Given the description of an element on the screen output the (x, y) to click on. 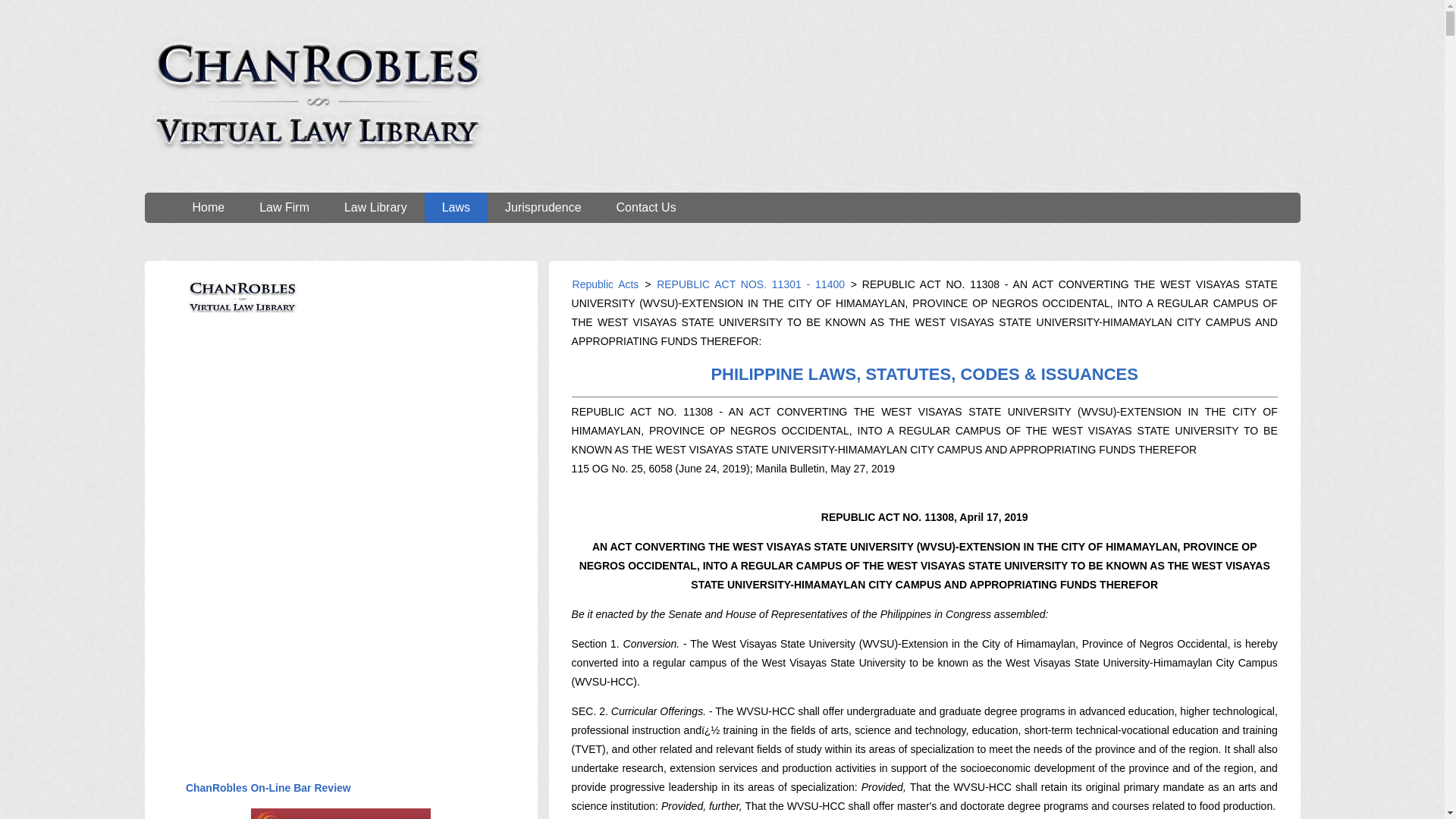
Contact Us (646, 207)
Republic Acts (606, 284)
Jurisprudence (542, 207)
Law Library (375, 207)
REPUBLIC ACT NOS. 11301 - 11400 (747, 284)
Laws (456, 207)
Law Firm (283, 207)
Home (207, 207)
ChanRobles On-Line Bar Review (268, 787)
